Given the description of an element on the screen output the (x, y) to click on. 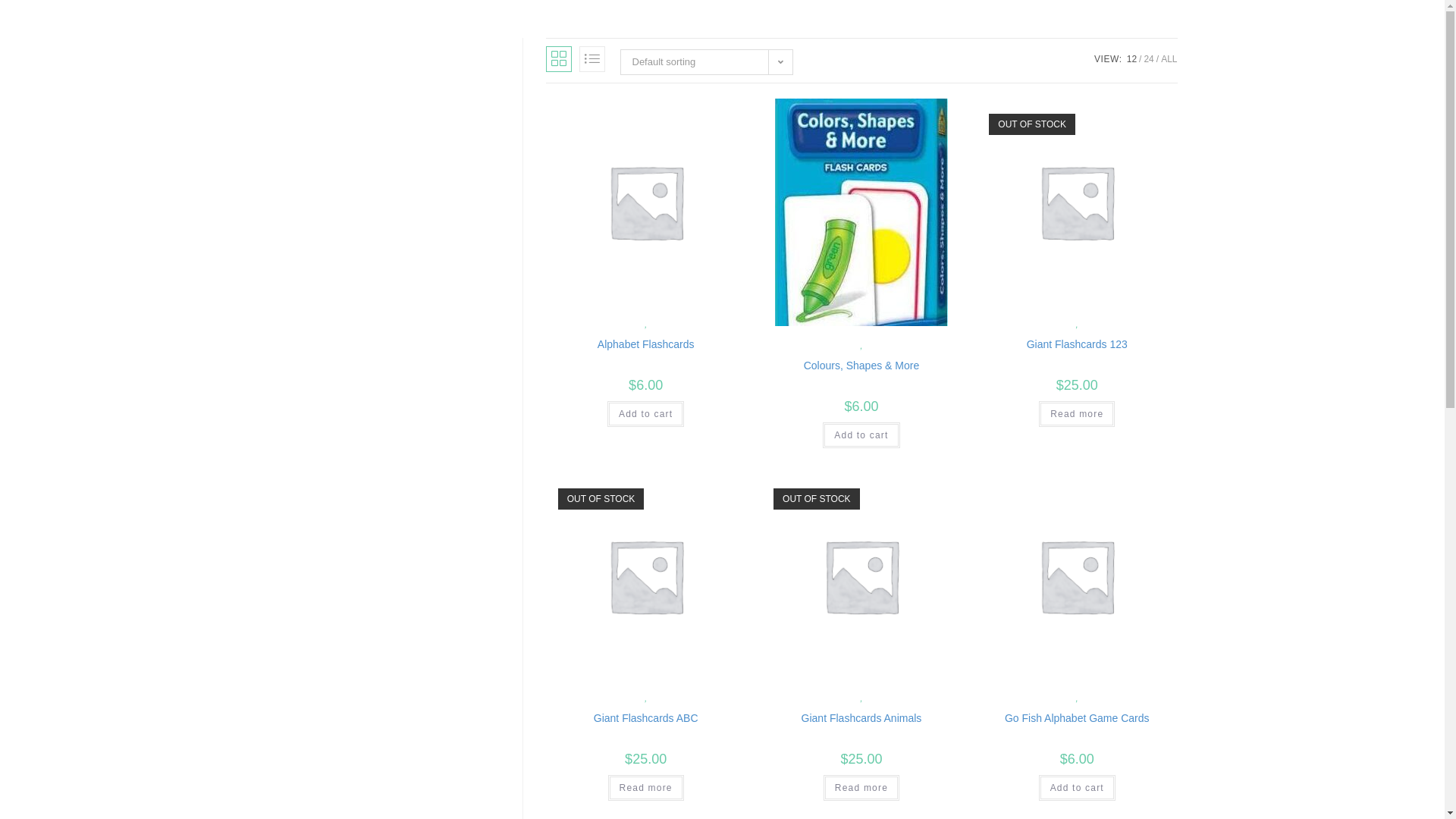
Add to cart Element type: text (645, 413)
Grid view Element type: hover (558, 59)
Read more Element type: text (861, 787)
12 Element type: text (1131, 58)
Read more Element type: text (1076, 413)
Colours, Shapes & More Element type: text (861, 365)
Add to cart Element type: text (1076, 787)
Add to cart Element type: text (860, 435)
Giant Flashcards Animals Element type: text (861, 718)
Giant Flashcards 123 Element type: text (1076, 344)
Read more Element type: text (646, 787)
Alphabet Flashcards Element type: text (645, 344)
List view Element type: hover (592, 59)
Go Fish Alphabet Game Cards Element type: text (1076, 718)
24 Element type: text (1148, 58)
Giant Flashcards ABC Element type: text (645, 718)
ALL Element type: text (1168, 58)
